Given the description of an element on the screen output the (x, y) to click on. 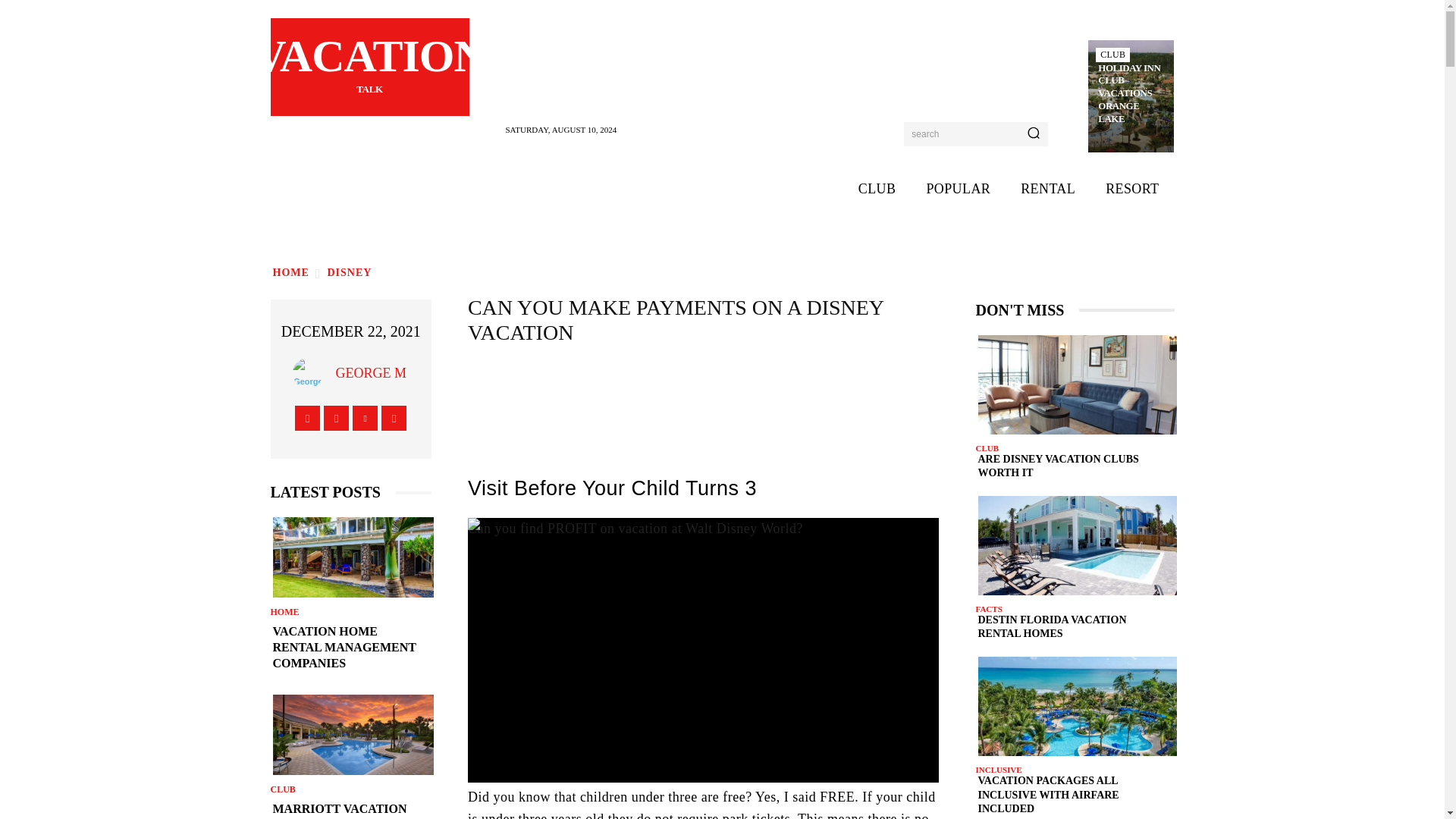
Marriott Vacation Club Orlando Deals (349, 734)
Vacation Home Rental Management Companies (349, 556)
HOLIDAY INN CLUB VACATIONS ORANGE LAKE (1131, 94)
RESORT (1131, 189)
Instagram (336, 416)
HOME (290, 273)
Facebook (307, 416)
Twitter (364, 416)
POPULAR (958, 189)
RENTAL (1048, 189)
